Given the description of an element on the screen output the (x, y) to click on. 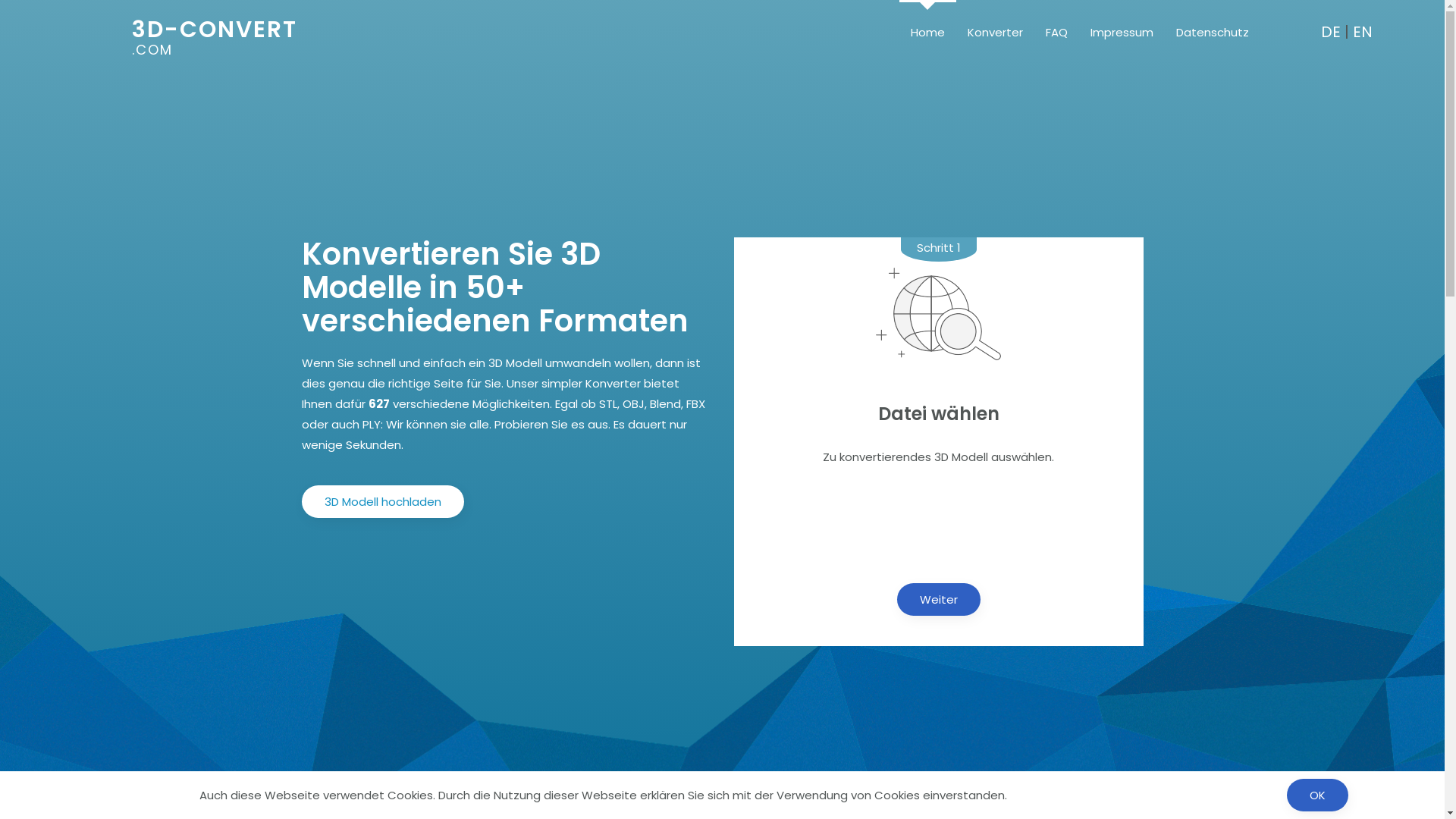
Weiter Element type: text (937, 599)
OK Element type: text (1317, 794)
3D-CONVERT
.COM Element type: text (219, 37)
3D Modell hochladen Element type: text (382, 501)
Advertisement Element type: hover (938, 512)
Home Element type: text (927, 31)
FAQ Element type: text (1056, 31)
Datenschutz Element type: text (1212, 31)
EN Element type: text (1362, 31)
DE Element type: text (1330, 31)
Advertisement Element type: hover (468, 597)
Impressum Element type: text (1121, 31)
Advertisement Element type: hover (722, 196)
Konverter Element type: text (995, 31)
